Given the description of an element on the screen output the (x, y) to click on. 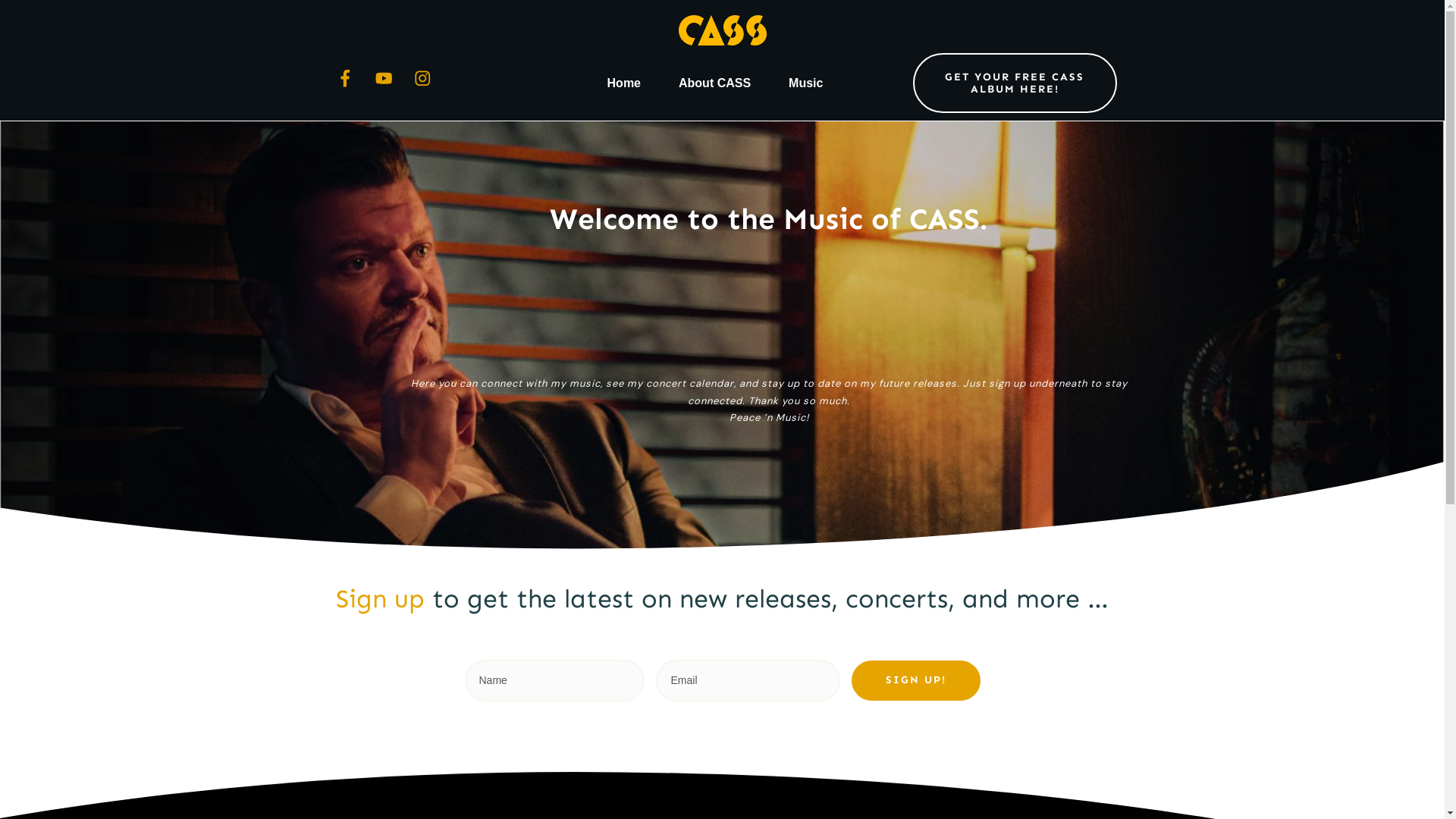
Home Element type: text (623, 83)
SIGN UP! Element type: text (915, 680)
GET YOUR FREE CASS ALBUM HERE! Element type: text (1015, 82)
Music Element type: text (805, 83)
About CASS Element type: text (714, 83)
